Given the description of an element on the screen output the (x, y) to click on. 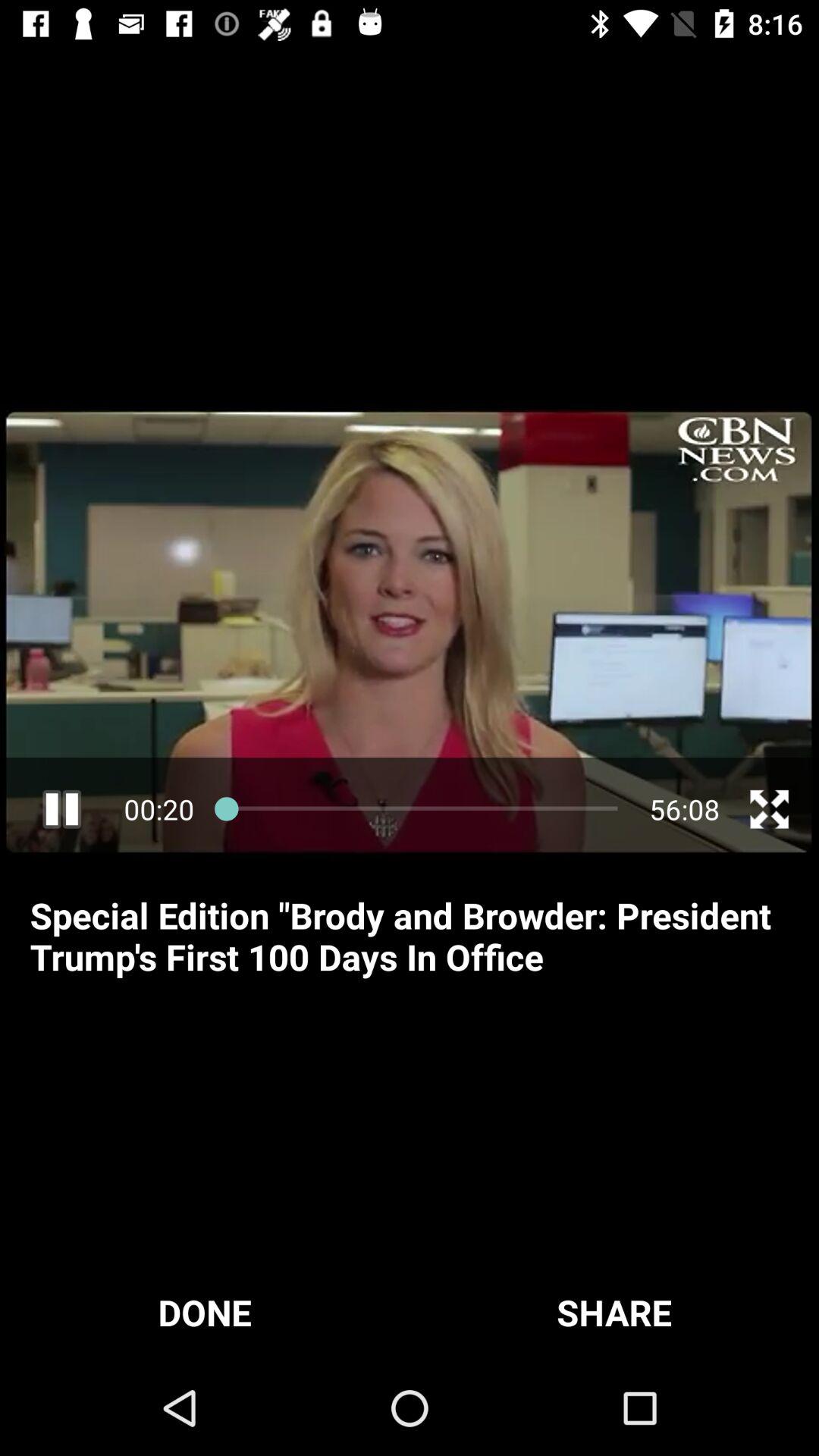
pause audio (61, 809)
